Given the description of an element on the screen output the (x, y) to click on. 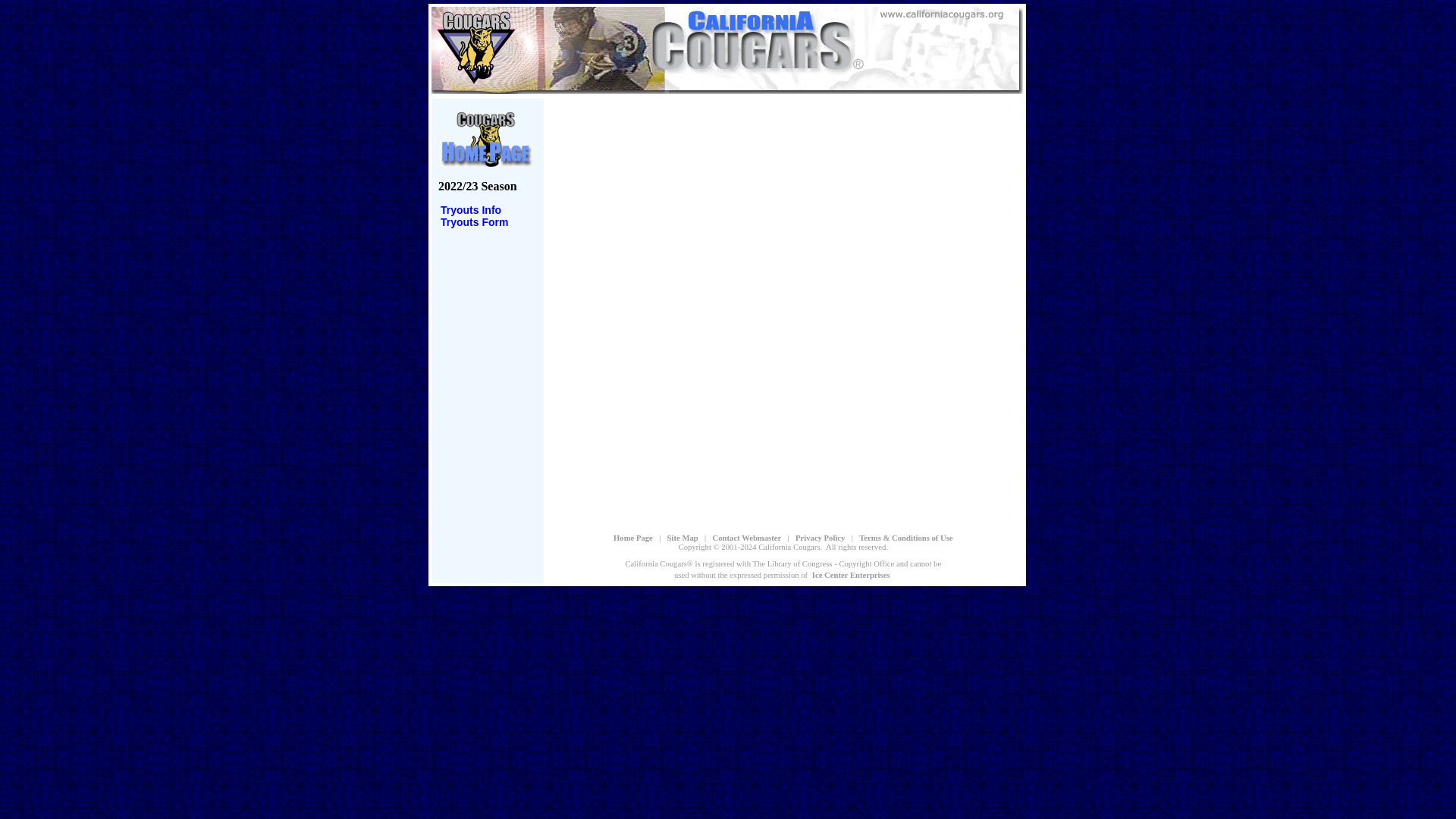
Tryouts Form (473, 222)
Contact Webmaster (747, 536)
Privacy Policy (819, 536)
Tryouts Info (470, 210)
Site Map (682, 536)
Ice Center Enterprises (850, 573)
Home Page (632, 536)
